Given the description of an element on the screen output the (x, y) to click on. 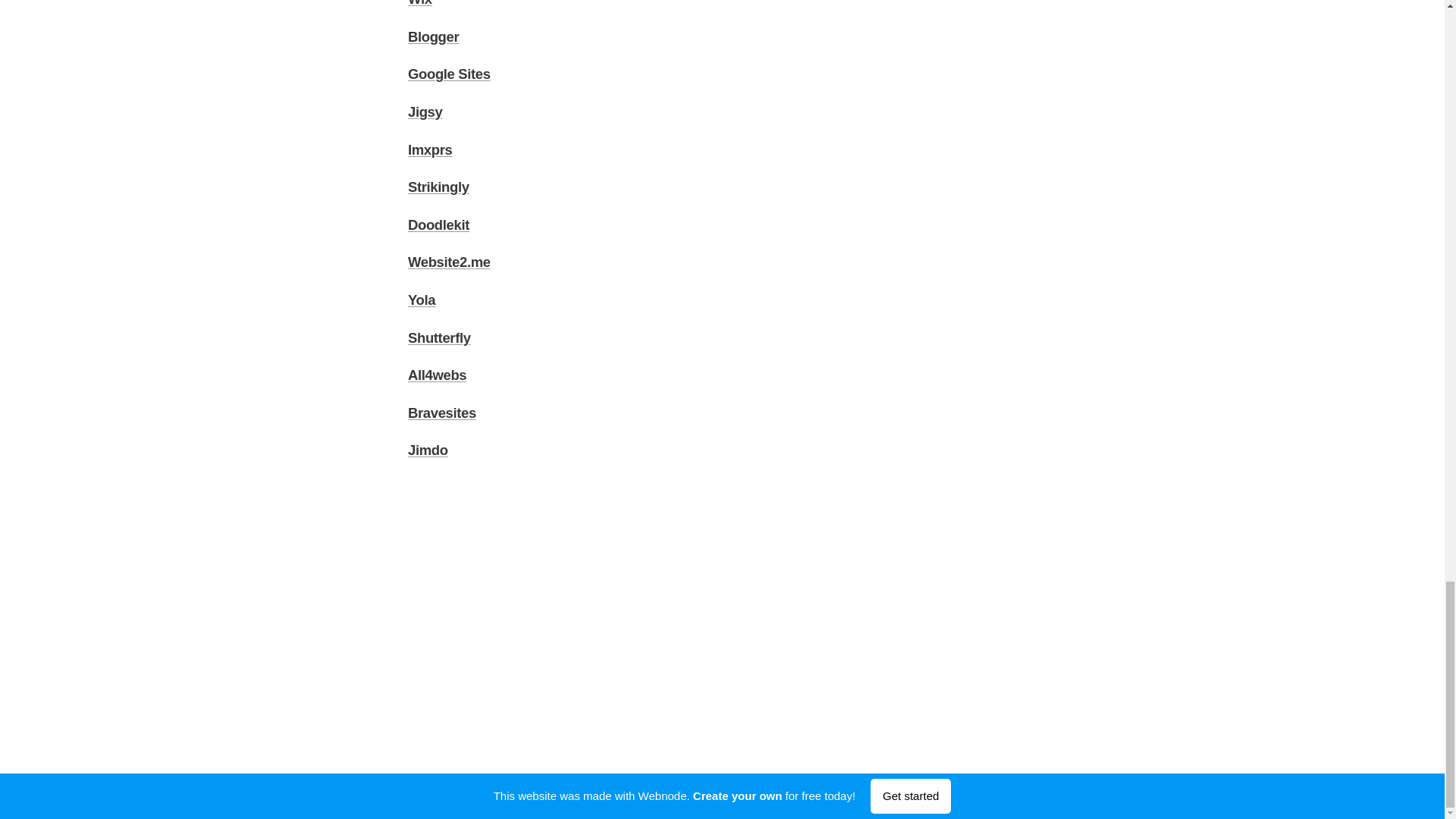
Doodlekit (437, 223)
Imxprs (429, 148)
Yola (421, 299)
Shutterfly (438, 336)
Jimdo (427, 449)
Google Sites (448, 73)
Blogger (432, 35)
Website2.me (448, 261)
Jigsy (424, 110)
Bravesites (441, 412)
